Given the description of an element on the screen output the (x, y) to click on. 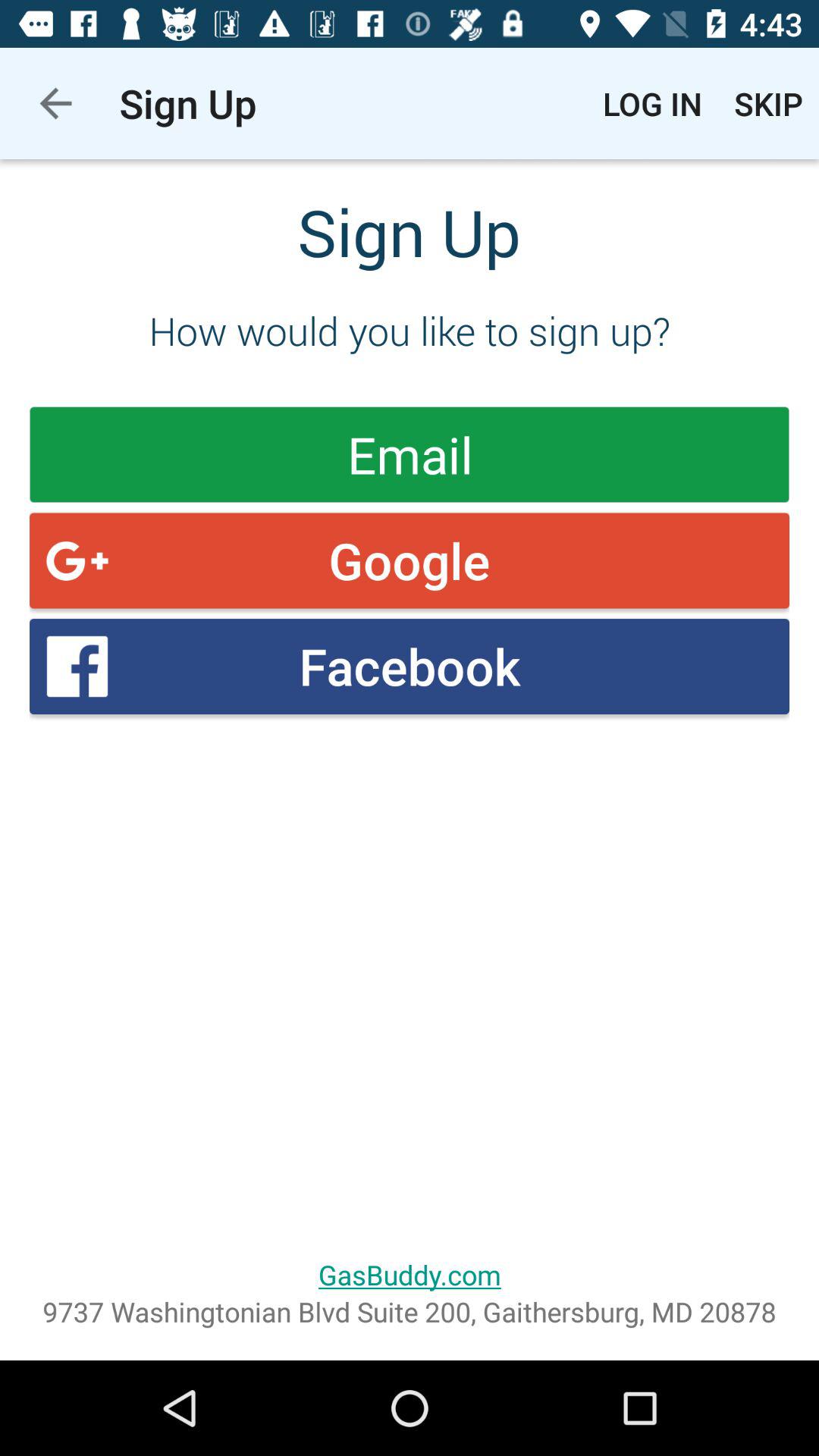
tap the google icon (409, 560)
